Given the description of an element on the screen output the (x, y) to click on. 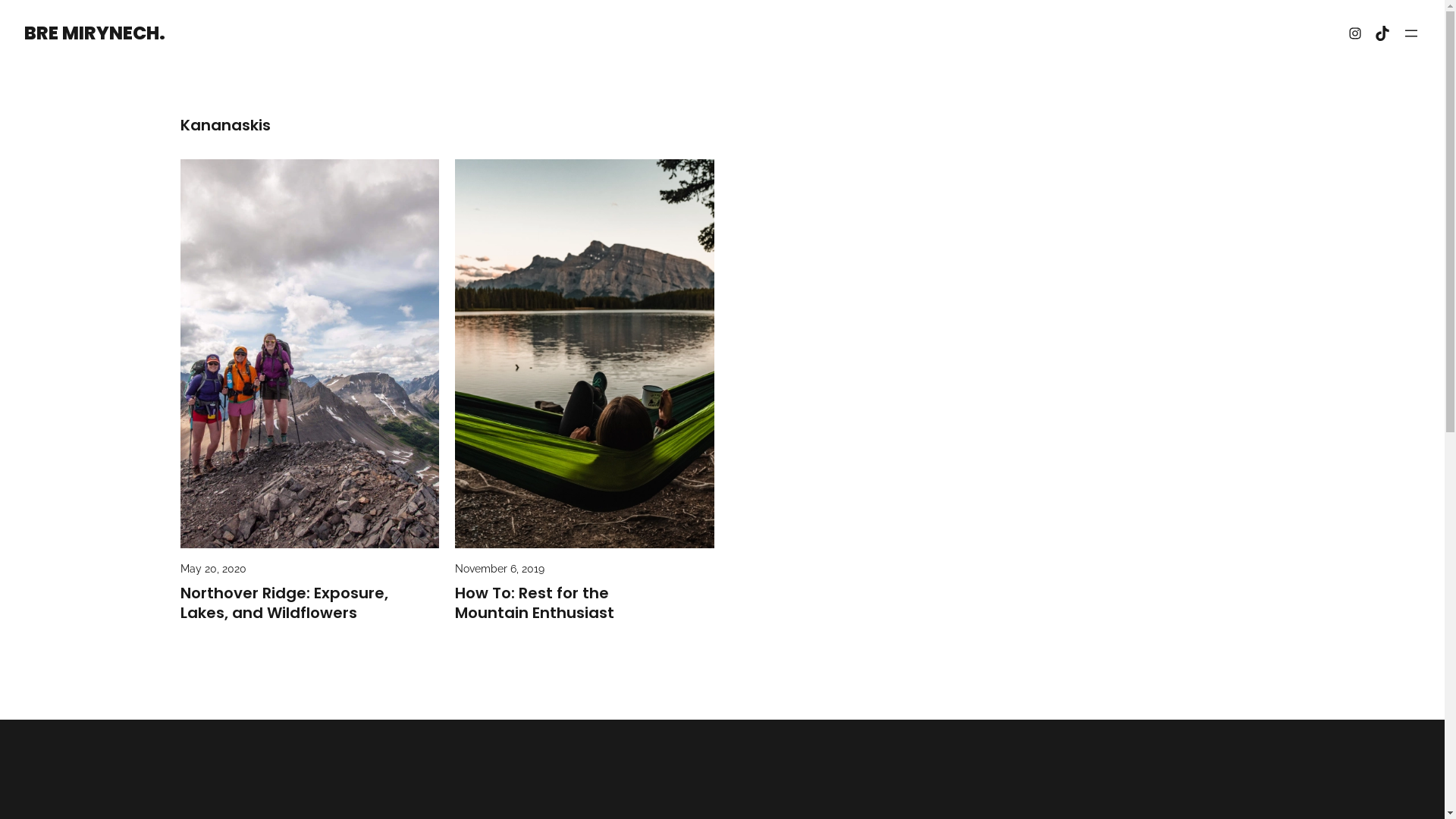
Northover Ridge: Exposure, Lakes, and Wildflowers Element type: text (309, 602)
BRE MIRYNECH. Element type: text (94, 32)
How To: Rest for the Mountain Enthusiast Element type: text (584, 602)
